Given the description of an element on the screen output the (x, y) to click on. 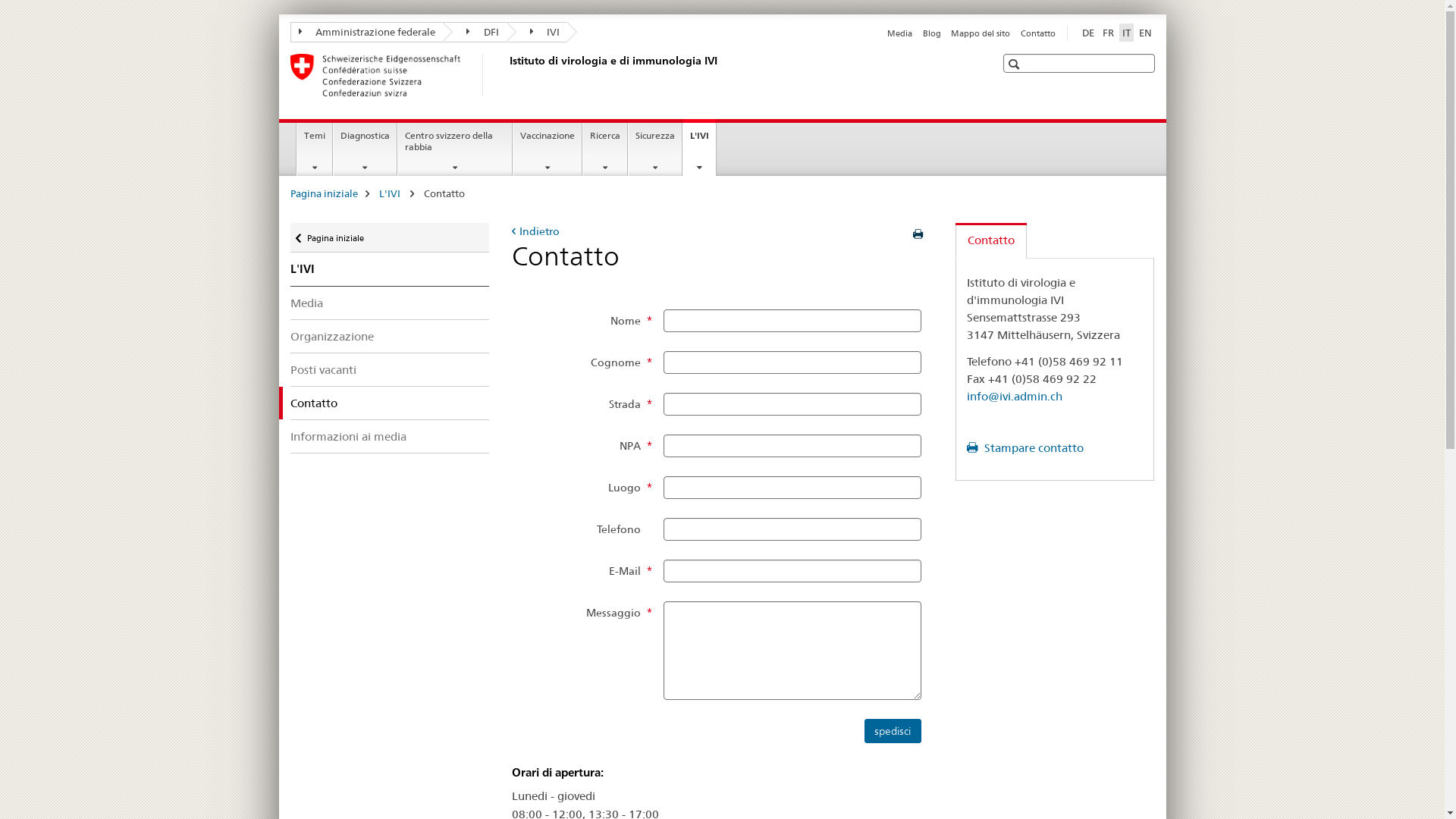
FR Element type: text (1108, 32)
Temi Element type: text (314, 148)
Centro svizzero della rabbia Element type: text (454, 148)
DE Element type: text (1087, 32)
IVI Element type: text (536, 31)
Media Element type: text (389, 302)
Contatto Element type: text (990, 240)
Ritornare
Pagina iniziale Element type: text (389, 237)
Pagina iniziale Element type: text (323, 193)
Amministrazione federale Element type: text (365, 31)
Organizzazione Element type: text (389, 336)
Blog Element type: text (931, 33)
Posti vacanti Element type: text (389, 369)
Mappo del sito Element type: text (980, 33)
Contatto Element type: text (1037, 33)
Stampare contatto Element type: text (1024, 447)
Istituto di virologia e di immunologia IVI Element type: text (505, 74)
Media Element type: text (899, 33)
Ricerca Element type: text (605, 148)
Indietro Element type: text (535, 231)
DFI Element type: text (474, 31)
Informazioni ai media Element type: text (389, 436)
Vaccinazione Element type: text (547, 148)
L'IVI Element type: text (389, 268)
Sicurezza Element type: text (654, 148)
L'IVI
current page Element type: text (699, 147)
IT Element type: text (1126, 32)
L'IVI Element type: text (390, 193)
spedisci Element type: text (892, 730)
EN Element type: text (1144, 32)
info@ivi.admin.ch Element type: text (1014, 396)
Diagnostica Element type: text (364, 148)
